Given the description of an element on the screen output the (x, y) to click on. 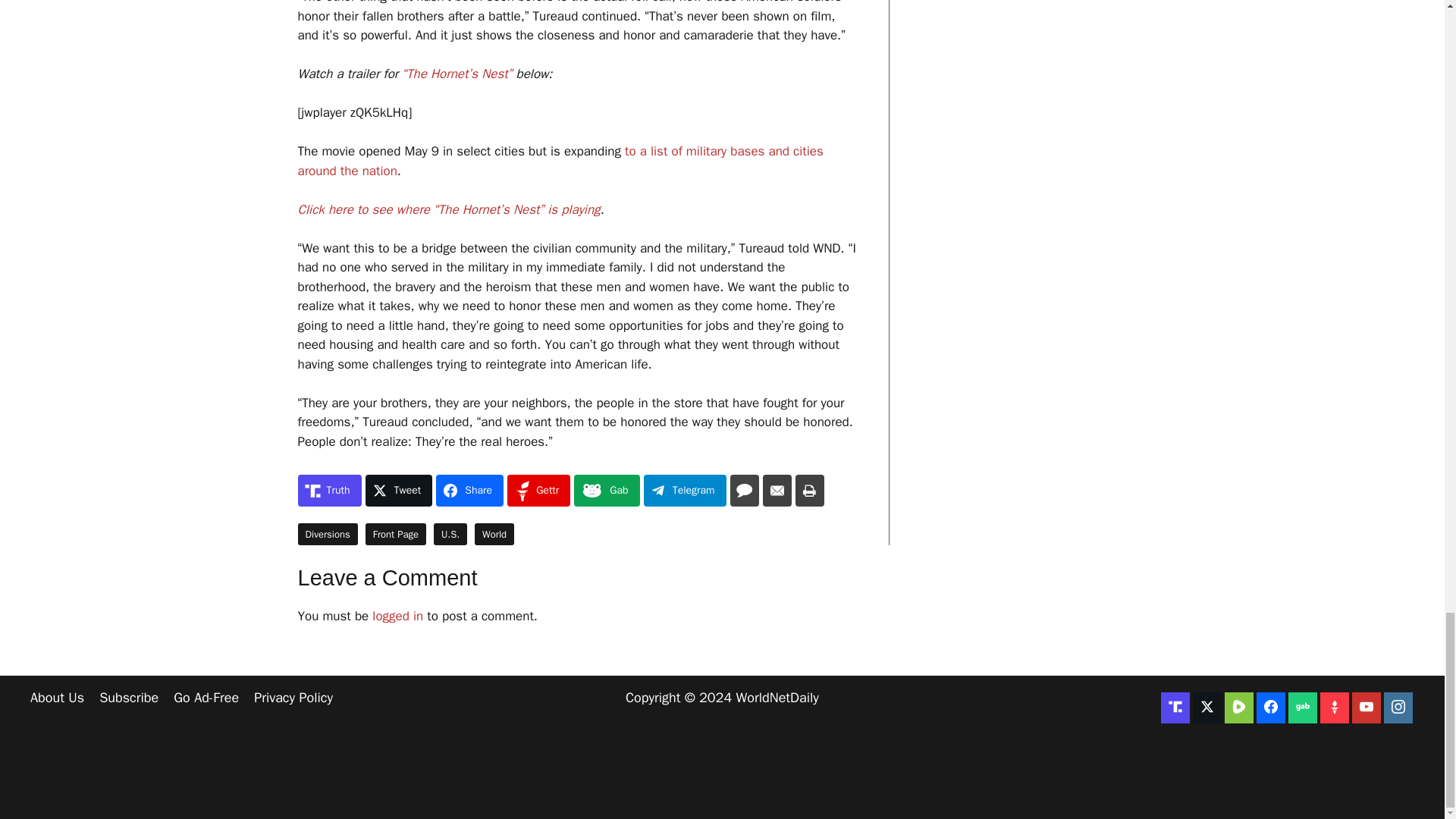
Share on Share (469, 490)
Share on Tweet (398, 490)
Share on Truth (329, 490)
Share on Gettr (538, 490)
